Given the description of an element on the screen output the (x, y) to click on. 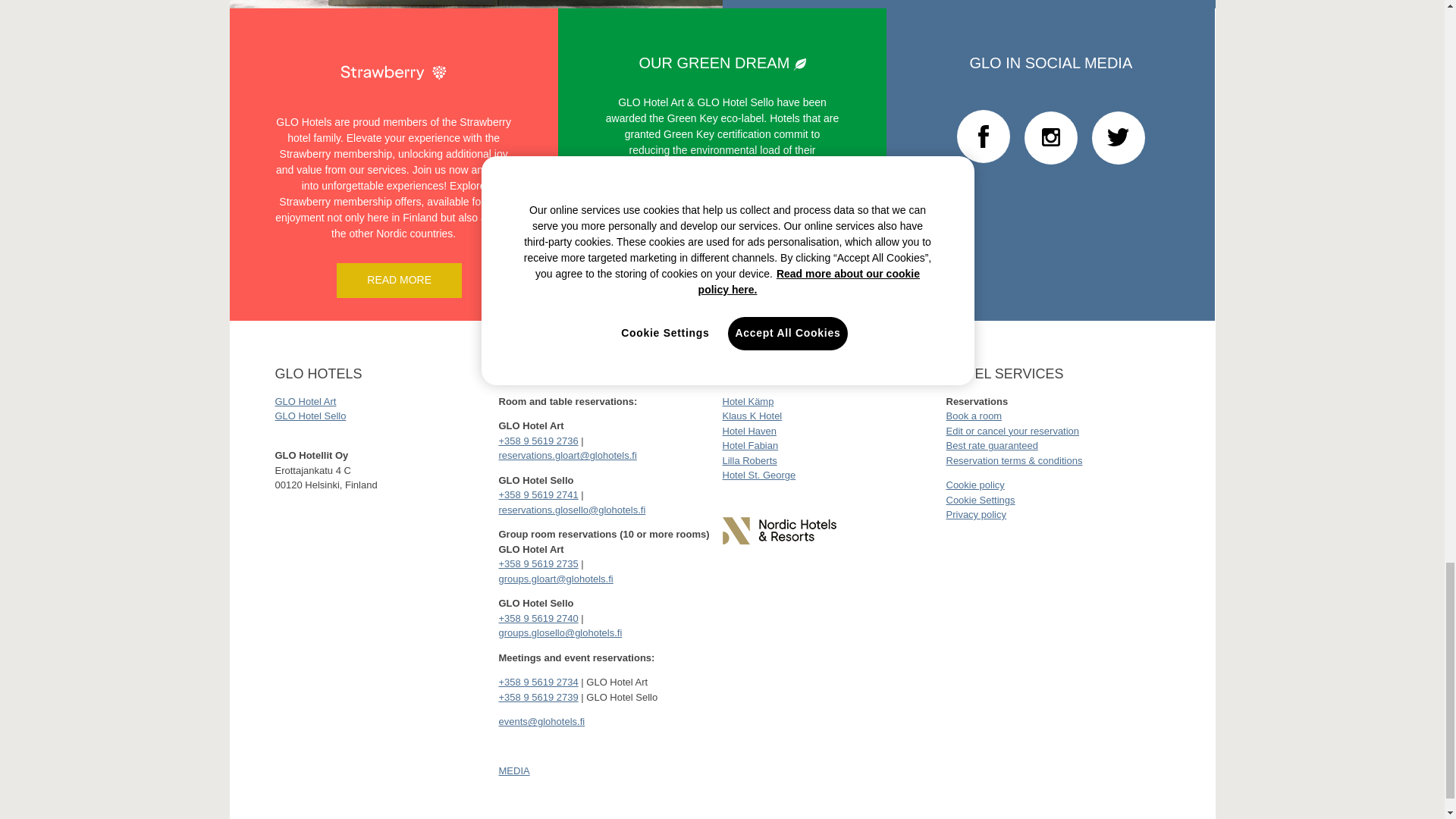
READ MORE (721, 280)
READ MORE (398, 280)
GLO Hotel Art (305, 401)
Nordic Choice Hotels (778, 530)
GLO Hotel Sello (310, 415)
